Given the description of an element on the screen output the (x, y) to click on. 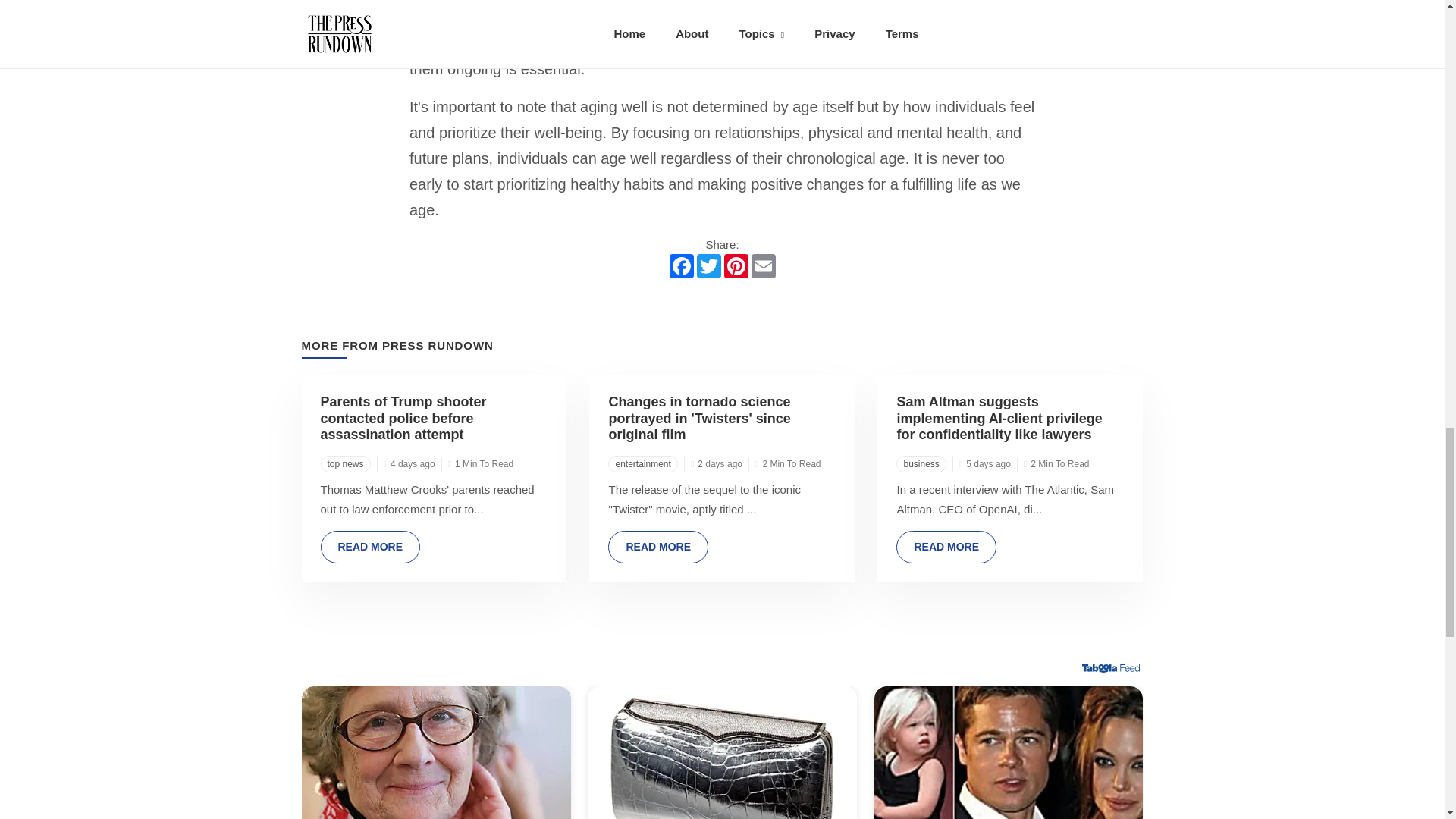
Facebook (680, 265)
Twitter (708, 265)
entertainment (642, 463)
READ MORE (370, 546)
READ MORE (657, 546)
Email (762, 265)
Pinterest (735, 265)
business (920, 463)
top news (344, 463)
READ MORE (945, 546)
